Given the description of an element on the screen output the (x, y) to click on. 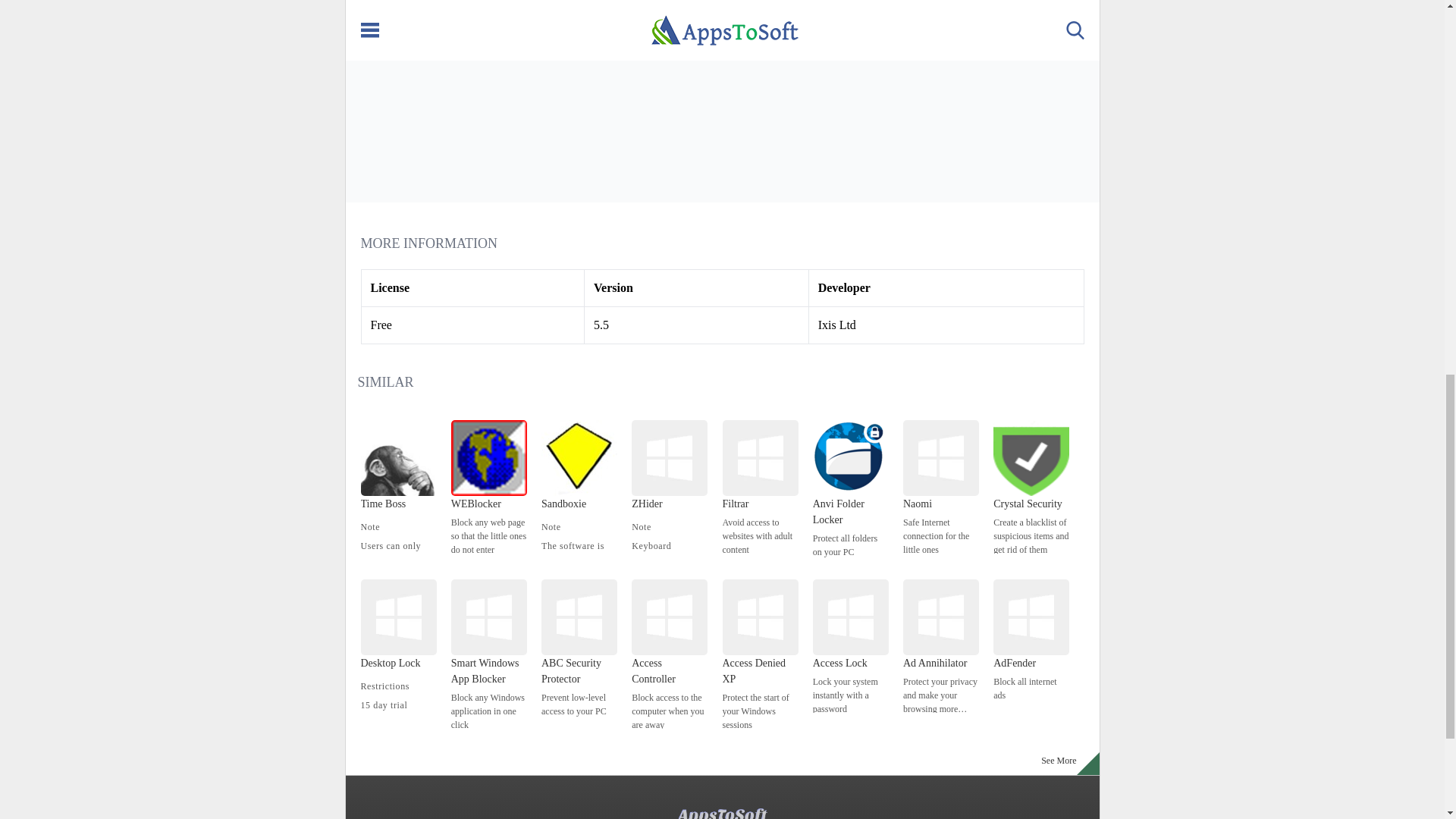
SIMILAR (385, 381)
See More (1058, 763)
